Given the description of an element on the screen output the (x, y) to click on. 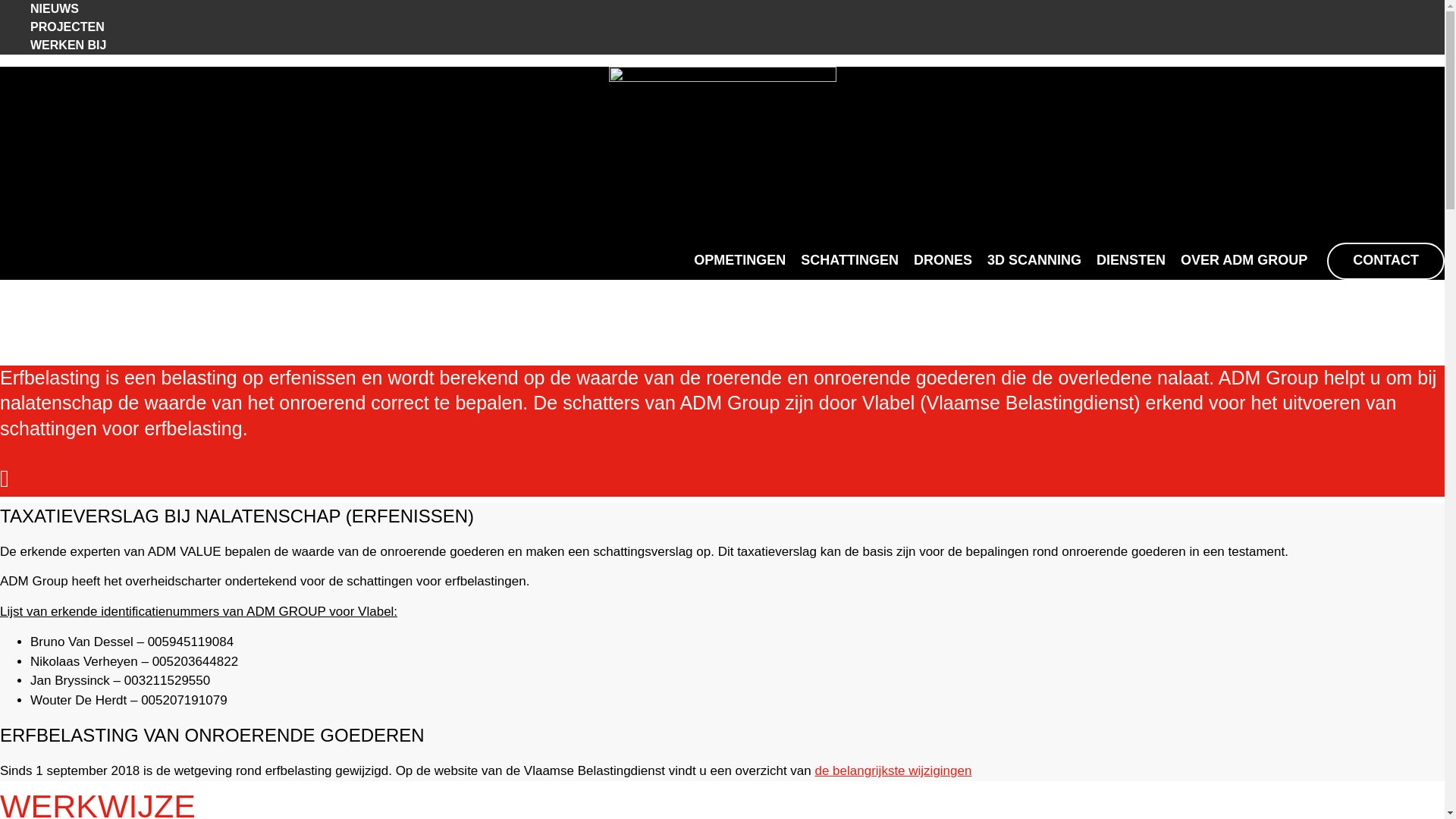
WERKEN BIJ Element type: text (68, 44)
3D SCANNING Element type: text (1033, 260)
DRONES Element type: text (942, 260)
DIENSTEN Element type: text (1130, 260)
CONTACT Element type: text (1385, 261)
SCHATTINGEN Element type: text (849, 260)
OPMETINGEN Element type: text (739, 260)
de belangrijkste wijzigingen Element type: text (892, 770)
OVER ADM GROUP Element type: text (1243, 260)
PROJECTEN Element type: text (67, 26)
NIEUWS Element type: text (54, 8)
